Given the description of an element on the screen output the (x, y) to click on. 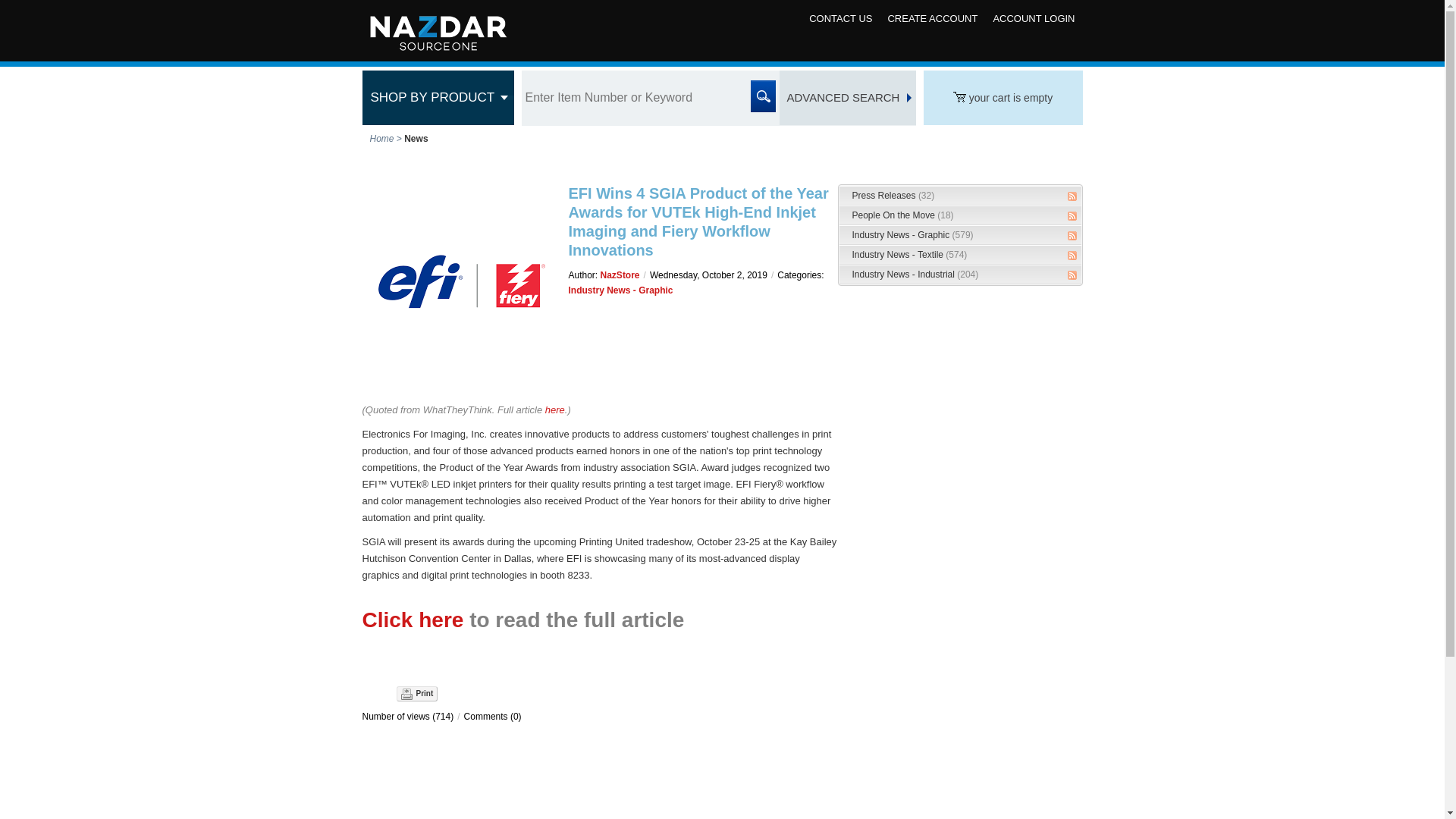
Industry News - Graphic (912, 235)
Account Login (1033, 18)
Industry News - Textile (909, 254)
Create Account (932, 18)
Contact Us (840, 18)
RSS (1072, 195)
RSS (1072, 255)
CREATE ACCOUNT (932, 18)
CONTACT US (840, 18)
People On the Move (902, 214)
Nazdar SourceOne (437, 26)
Press Releases (892, 195)
RSS (1072, 215)
ACCOUNT LOGIN (1033, 18)
RSS (1072, 235)
